Given the description of an element on the screen output the (x, y) to click on. 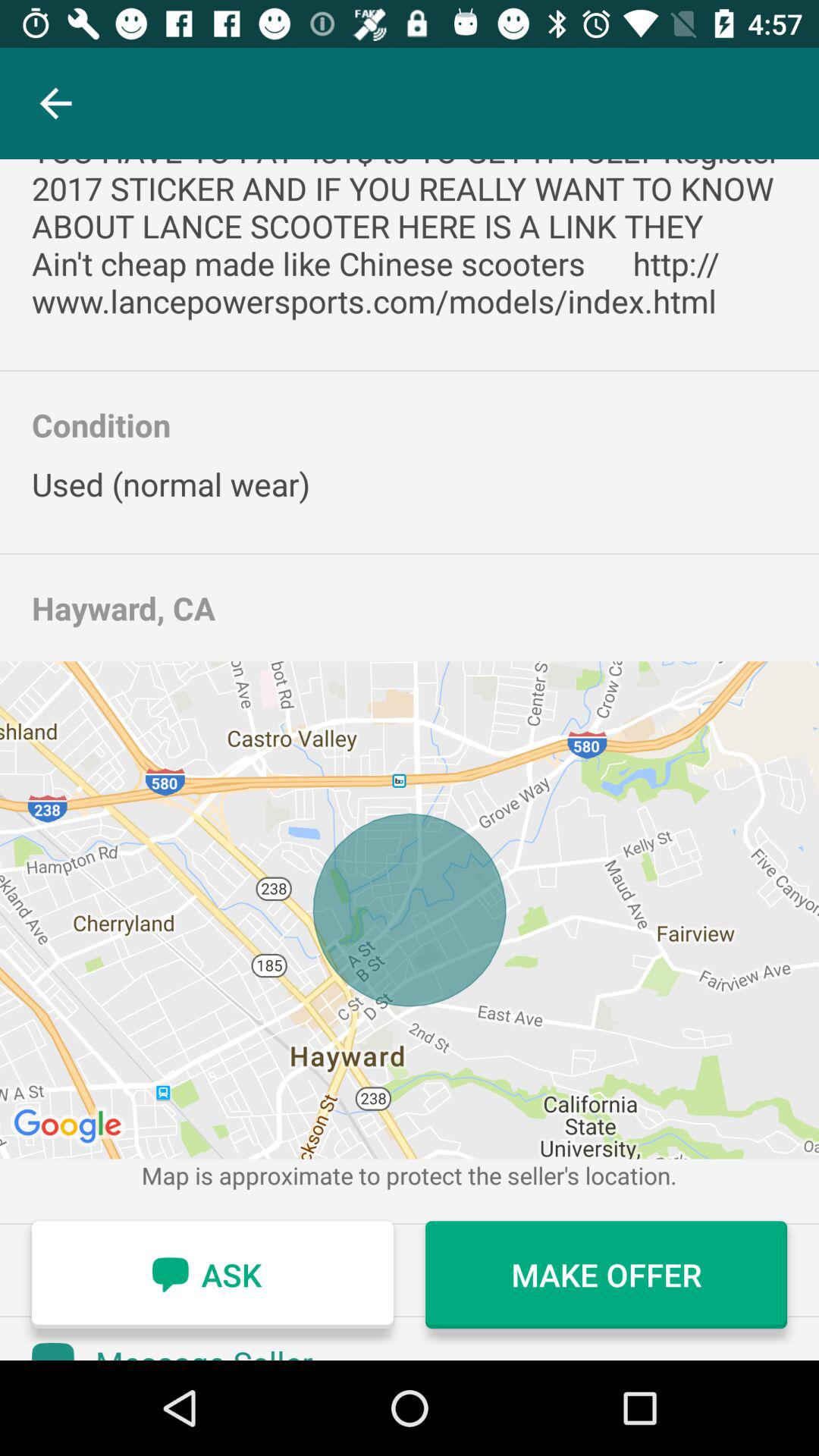
turn off icon above condition item (409, 240)
